Given the description of an element on the screen output the (x, y) to click on. 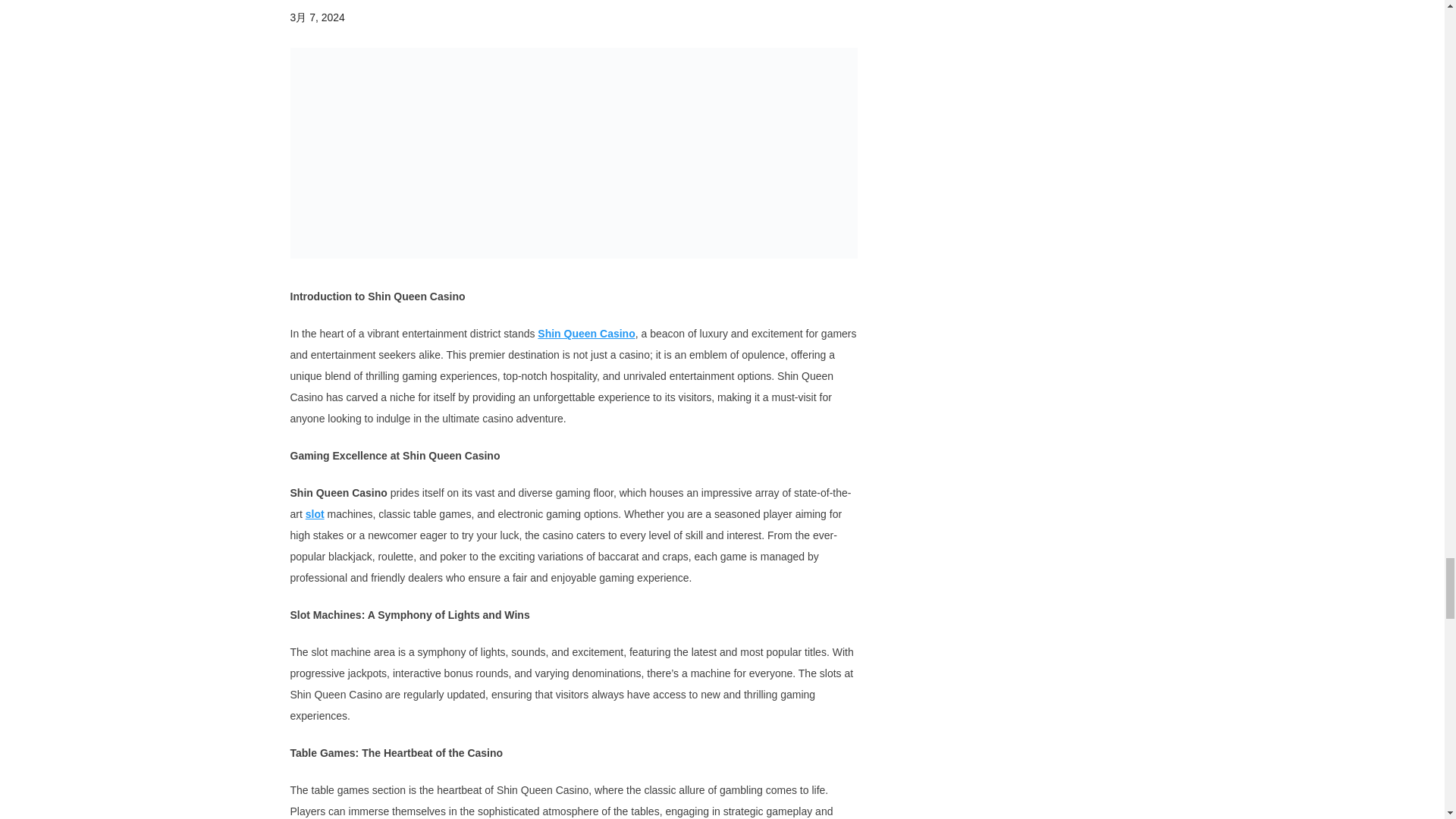
slot (314, 513)
Shin Queen Casino (585, 333)
